Given the description of an element on the screen output the (x, y) to click on. 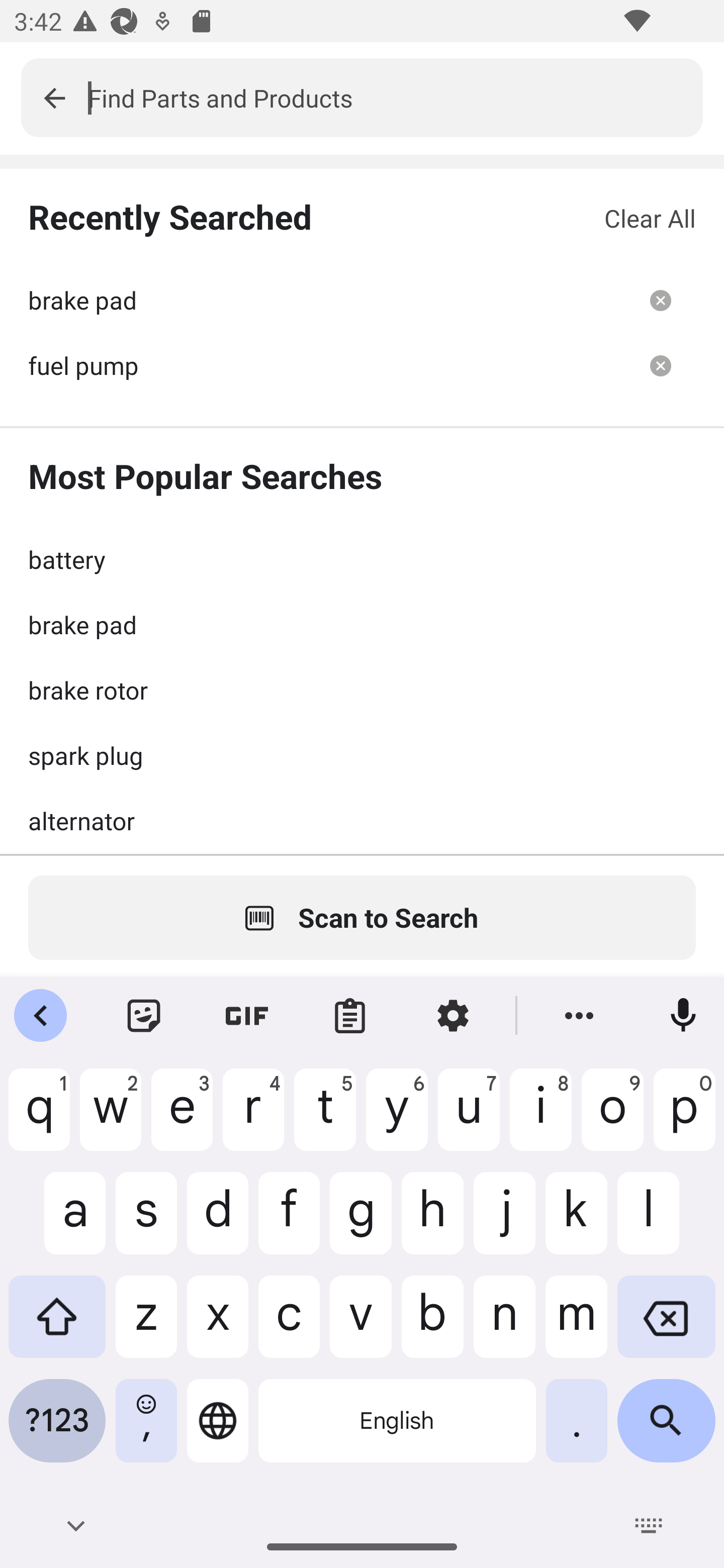
 (54, 97)
Find Parts and Products Text input field (395, 97)
Clear all Recently Searched items Clear All (649, 217)
brake pad (326, 300)
Remove item brake pad from Recently Searched  (660, 300)
fuel pump (326, 365)
Remove item fuel pump from Recently Searched  (660, 364)
battery (361, 558)
brake pad (361, 624)
brake rotor (361, 689)
spark plug (361, 754)
alternator (361, 820)
